Given the description of an element on the screen output the (x, y) to click on. 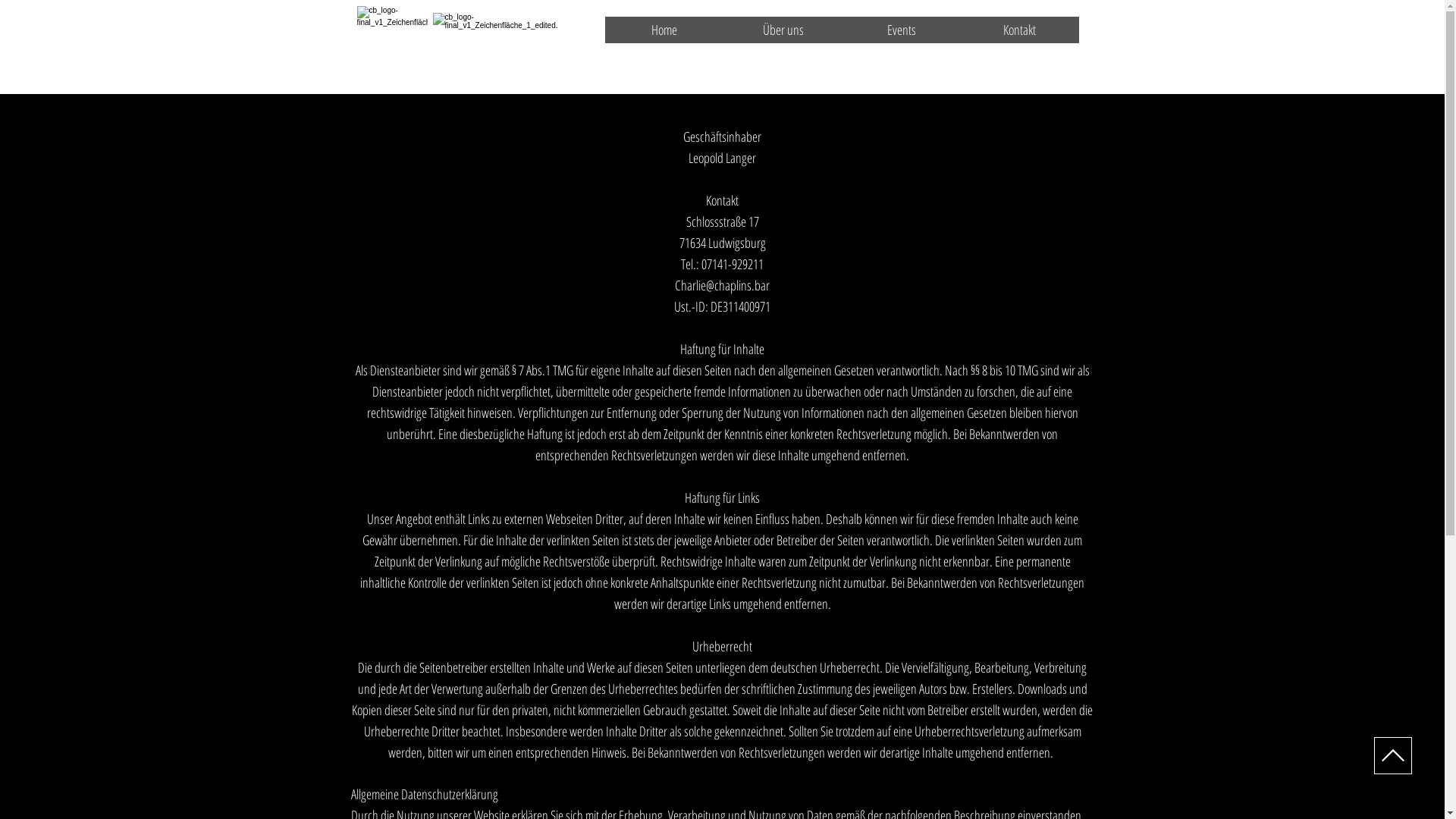
Restaurant Social Bar Element type: hover (1043, 65)
Home Element type: text (664, 29)
Kontakt Element type: text (1019, 29)
Events Element type: text (900, 29)
